Given the description of an element on the screen output the (x, y) to click on. 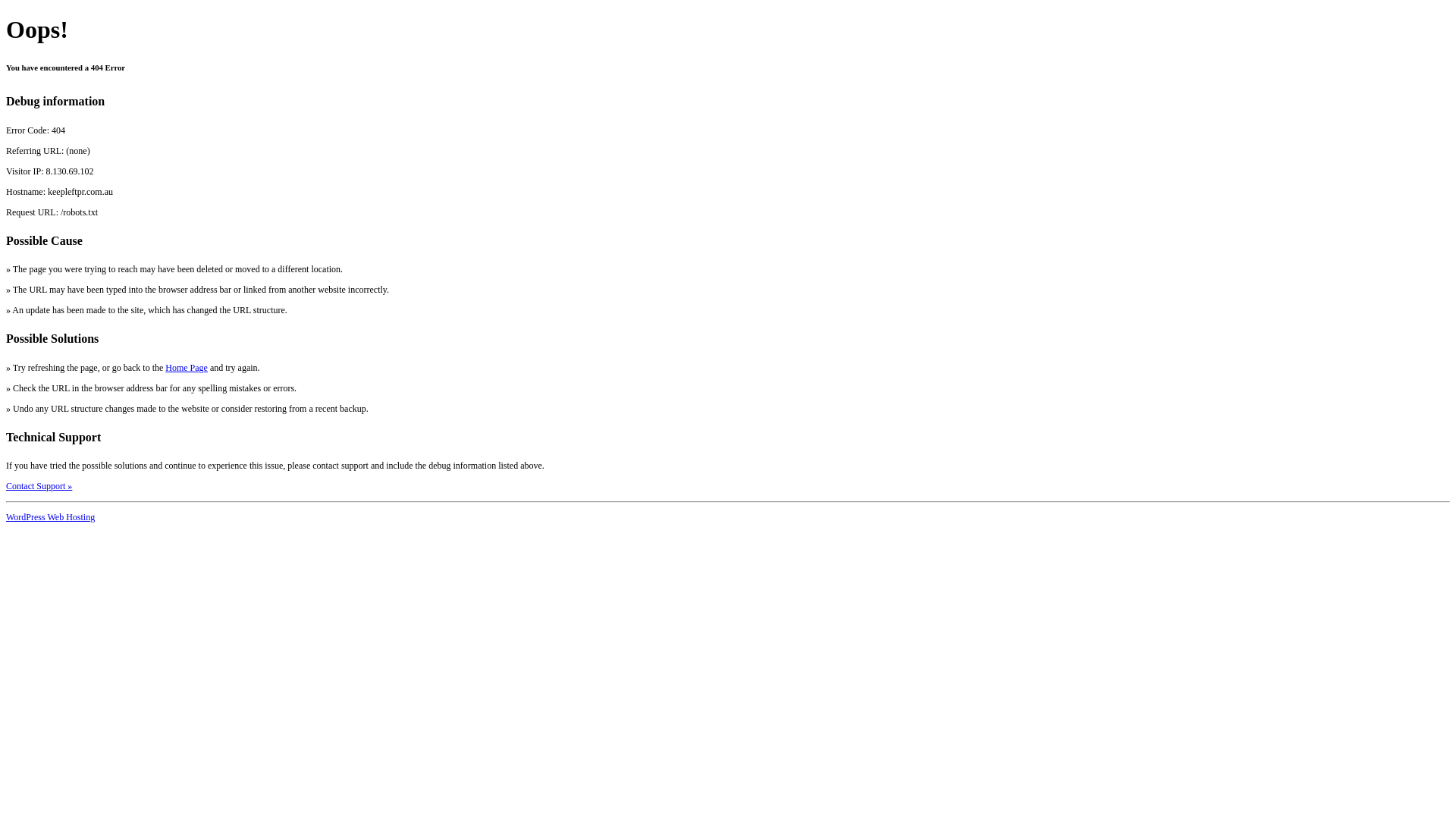
WordPress Web Hosting Element type: text (50, 516)
Home Page Element type: text (186, 367)
